Given the description of an element on the screen output the (x, y) to click on. 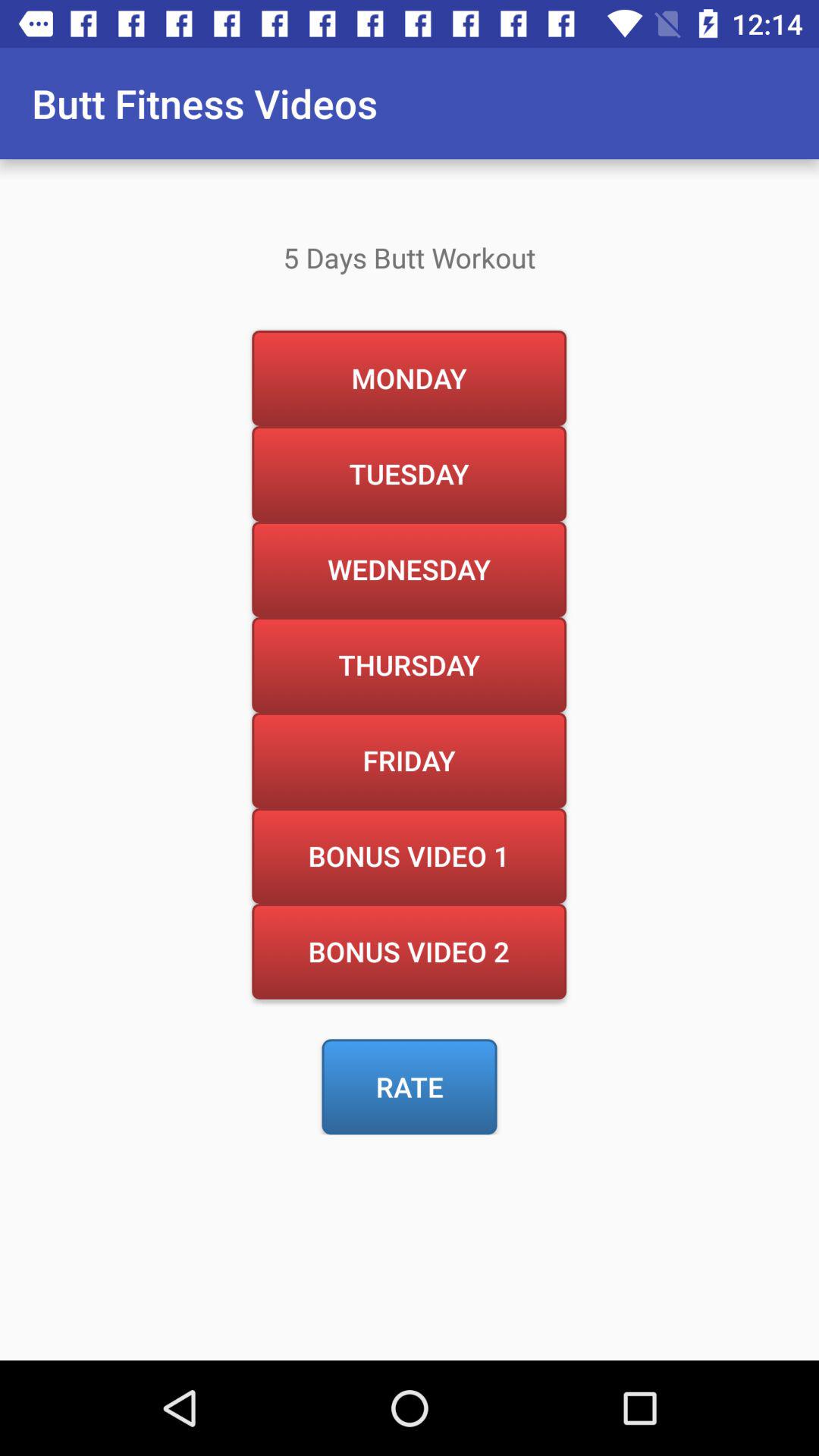
turn off icon above bonus video 1 (408, 760)
